Given the description of an element on the screen output the (x, y) to click on. 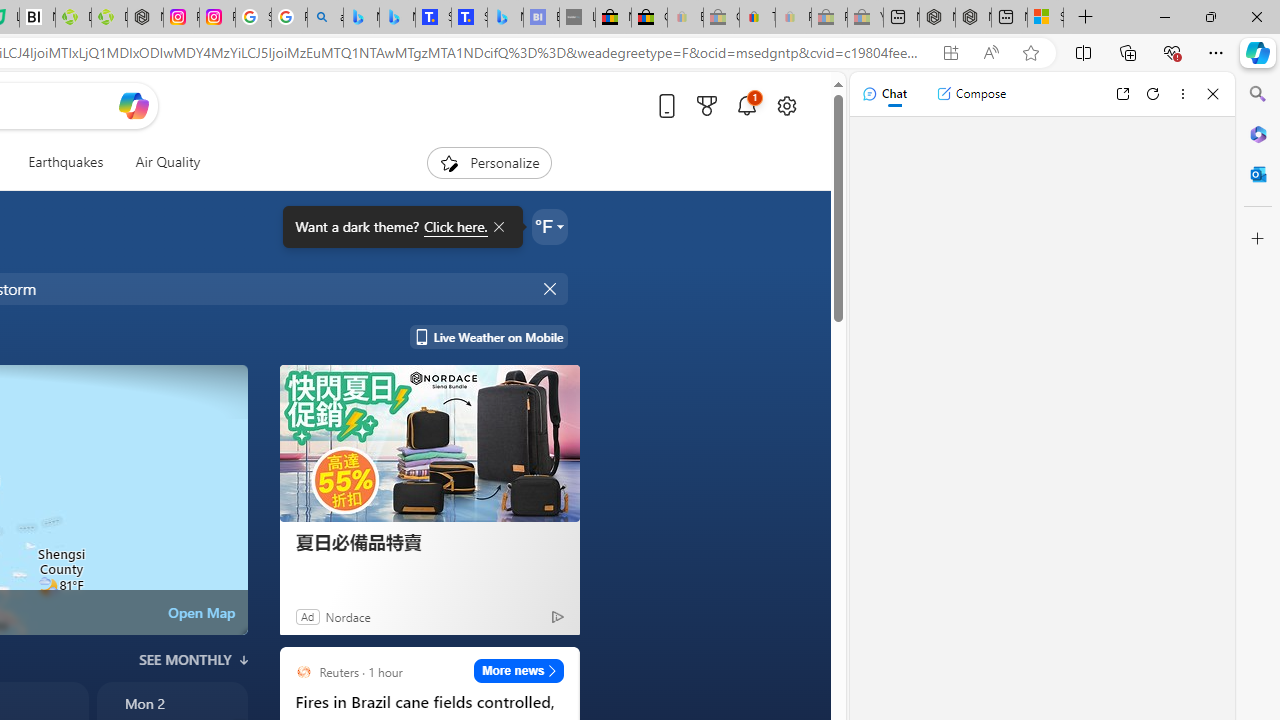
Personalize (488, 162)
Ad Choice (557, 616)
Press Room - eBay Inc. - Sleeping (829, 17)
See Monthly (193, 660)
Compose (971, 93)
Nordace (348, 615)
Microsoft rewards (707, 105)
